Given the description of an element on the screen output the (x, y) to click on. 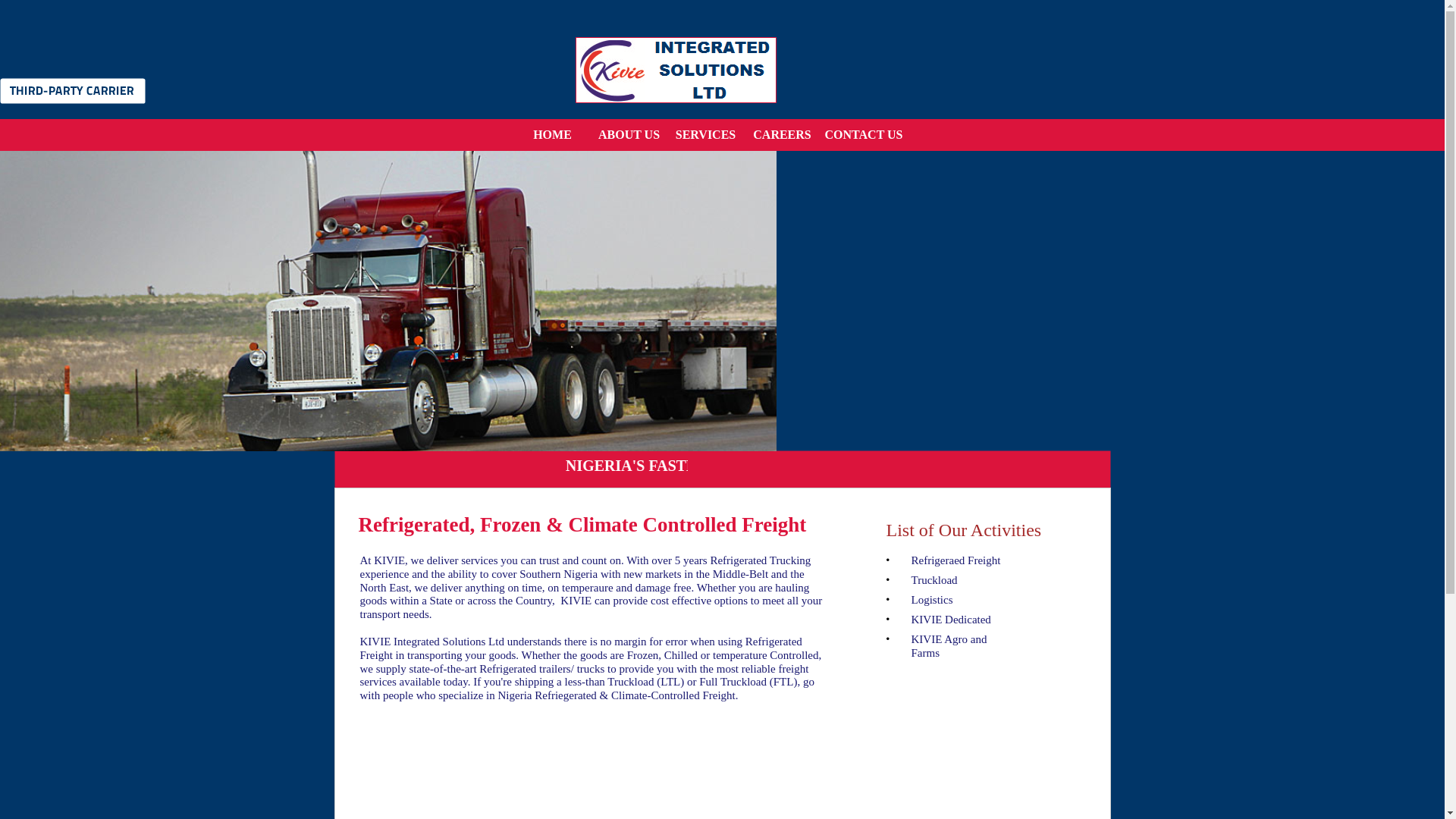
Want to work with Us! (782, 134)
CONTACT US (858, 134)
HOME (551, 134)
CAREERS (782, 134)
Refrigeraed Freight (956, 560)
SERVICES (704, 134)
Truckload (934, 580)
ABOUT US (628, 134)
Who We Are! (628, 134)
KIVIE Dedicated (951, 619)
Welcome to Kivie Corp (551, 134)
What We Do! (704, 134)
KIVIE Agro and Farms (949, 646)
Logistics (932, 599)
